Given the description of an element on the screen output the (x, y) to click on. 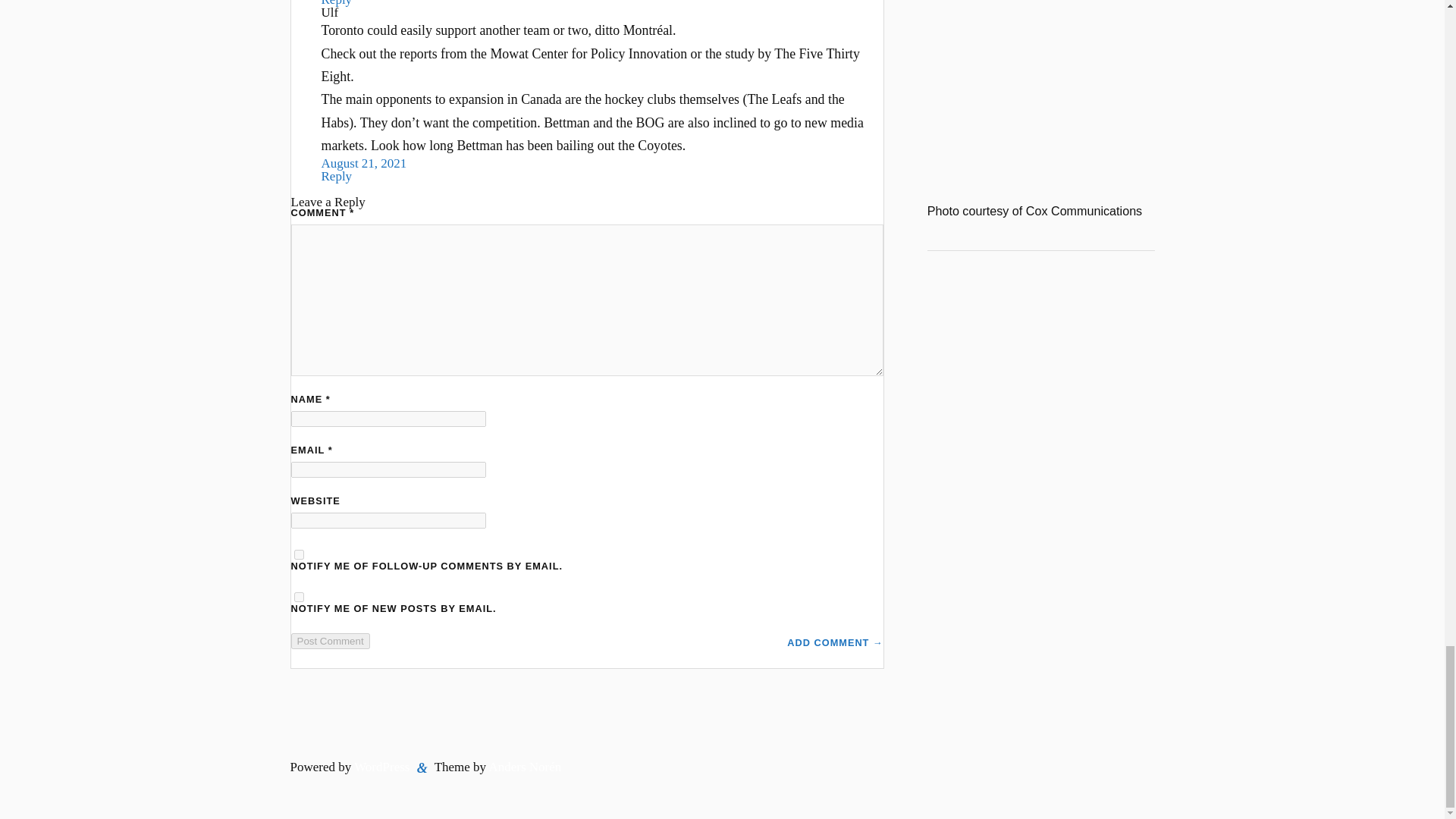
Post Comment (330, 641)
subscribe (299, 596)
August 21, 2021 at 1:35 AM (364, 163)
subscribe (299, 554)
